Given the description of an element on the screen output the (x, y) to click on. 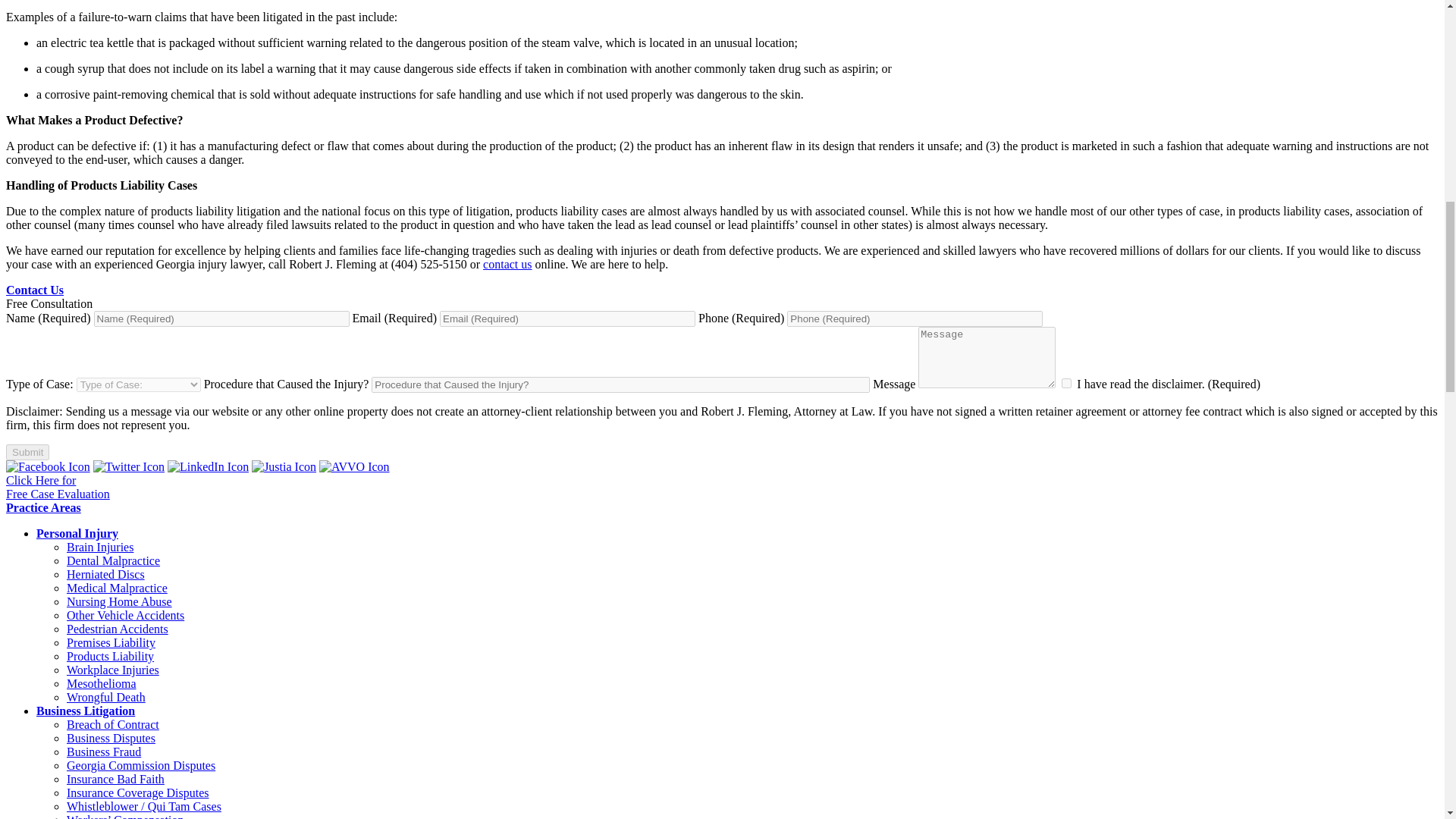
Personal Injury (57, 487)
AVVO (76, 533)
Twitter (354, 466)
Wrongful Death (128, 466)
Practice Areas (105, 697)
Justia (43, 507)
LinkedIn (283, 466)
I have read the disclaimer (207, 466)
Other Vehicle Accidents (1066, 383)
